Given the description of an element on the screen output the (x, y) to click on. 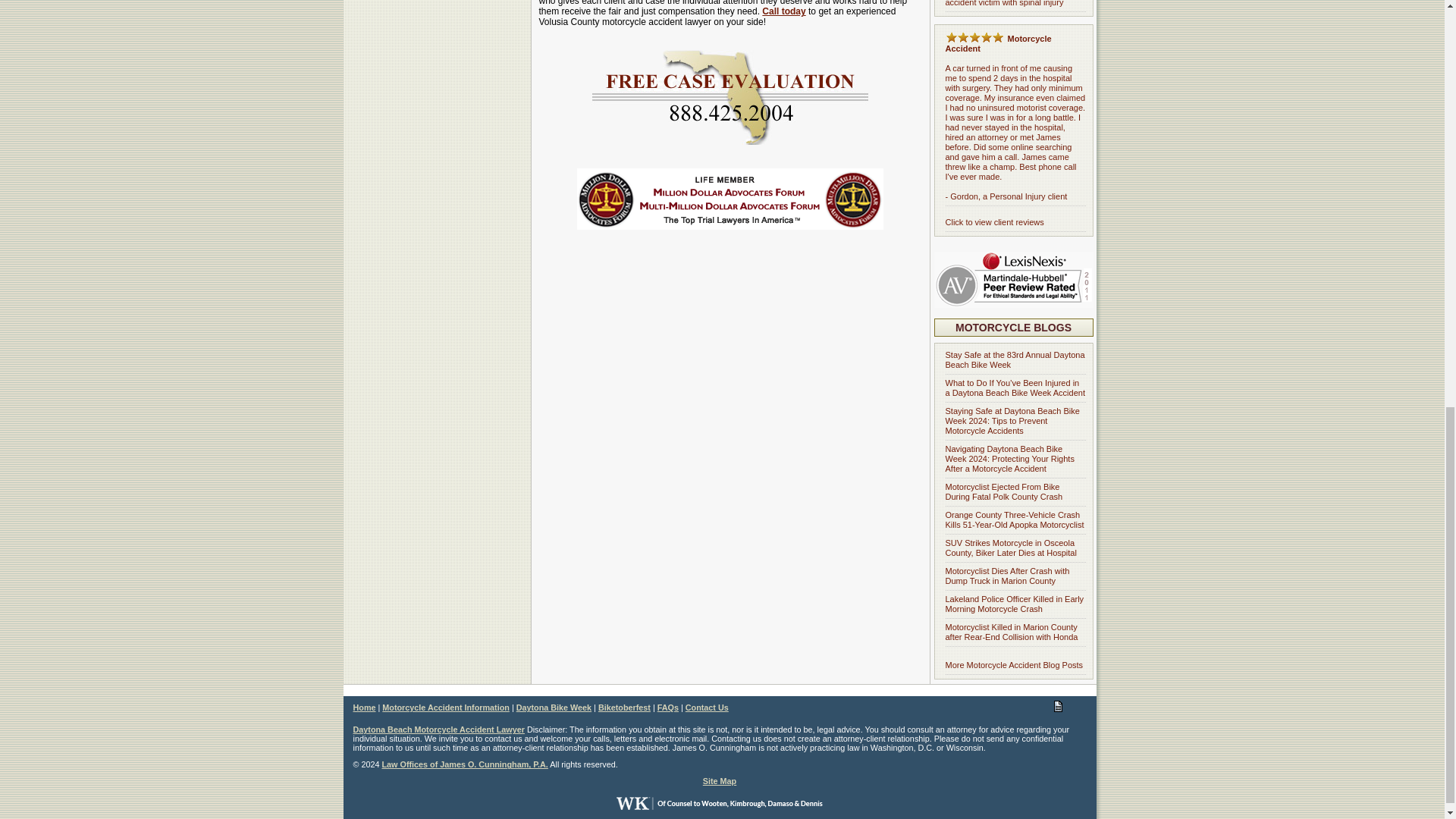
More Motorcycle Accident Blog Posts (1013, 664)
Click to view client reviews (993, 221)
Read Motorcycle Accident Blogs (1013, 327)
Call today (783, 10)
MOTORCYCLE BLOGS (1013, 327)
Stay Safe at the 83rd Annual Daytona Beach Bike Week (1014, 359)
